Given the description of an element on the screen output the (x, y) to click on. 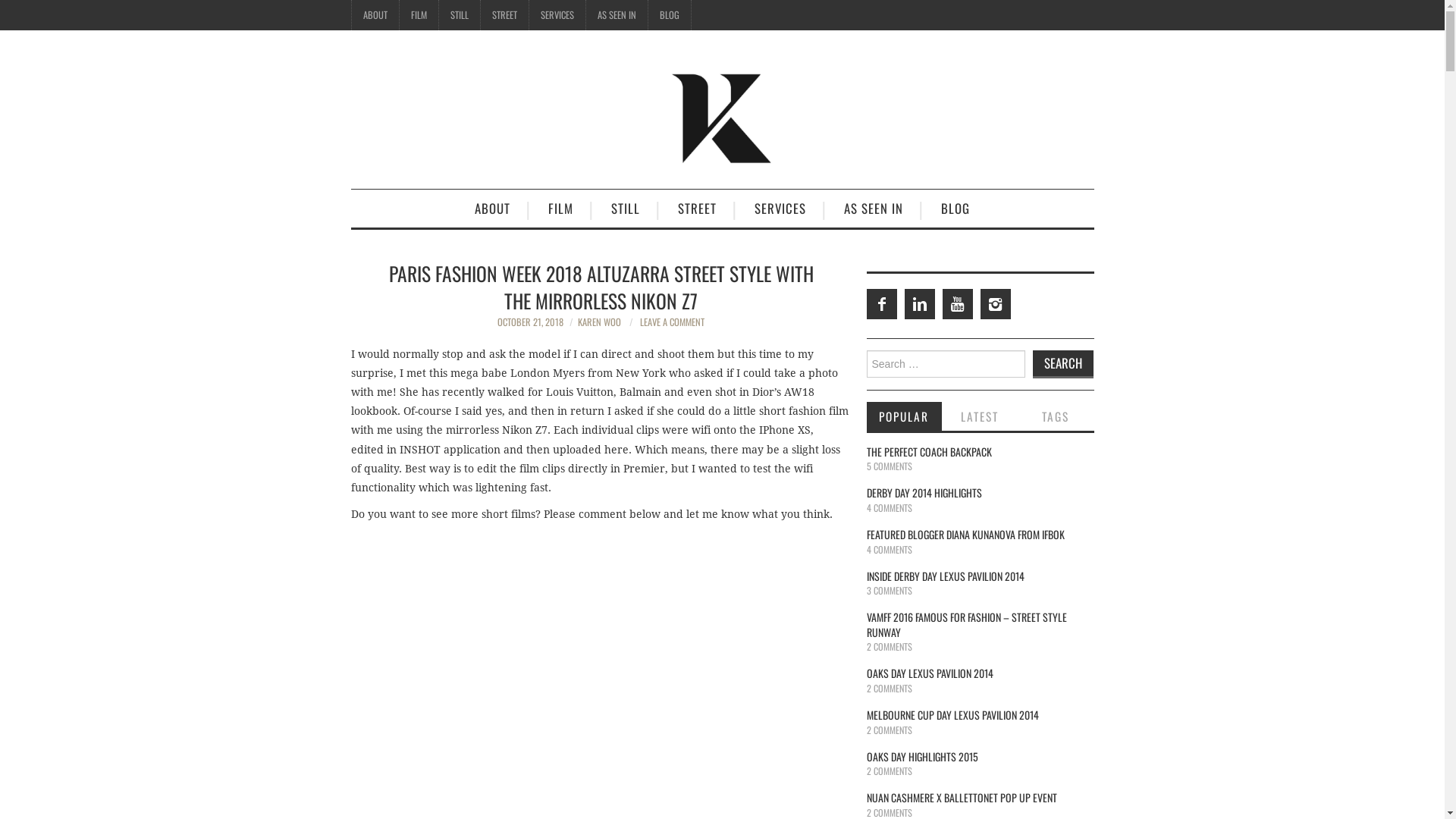
FILM Element type: text (560, 208)
OCTOBER 21, 2018 Element type: text (530, 321)
Search for: Element type: hover (945, 363)
LEAVE A COMMENT Element type: text (672, 321)
INSIDE DERBY DAY LEXUS PAVILION 2014 Element type: text (944, 575)
MELBOURNE CUP DAY LEXUS PAVILION 2014 Element type: text (952, 714)
LinkedIn Element type: hover (918, 303)
SERVICES Element type: text (557, 15)
STREET Element type: text (696, 208)
STILL Element type: text (625, 208)
OAKS DAY LEXUS PAVILION 2014 Element type: text (929, 672)
Facebook Element type: hover (881, 303)
AS SEEN IN Element type: text (615, 15)
Search Element type: text (1062, 364)
ABOUT Element type: text (374, 15)
BLOG Element type: text (955, 208)
STILL Element type: text (458, 15)
Instagram Element type: hover (994, 303)
FEATURED BLOGGER DIANA KUNANOVA FROM IFBOK Element type: text (964, 534)
AS SEEN IN Element type: text (873, 208)
THE PERFECT COACH BACKPACK Element type: text (928, 451)
TAGS Element type: text (1055, 415)
DERBY DAY 2014 HIGHLIGHTS Element type: text (923, 492)
OAKS DAY HIGHLIGHTS 2015 Element type: text (921, 756)
BLOG Element type: text (668, 15)
POPULAR Element type: text (903, 415)
LATEST Element type: text (979, 415)
Karen Woo Fashion Videographer Element type: hover (721, 115)
SERVICES Element type: text (780, 208)
STREET Element type: text (504, 15)
KAREN WOO Element type: text (599, 321)
YouTube Element type: hover (956, 303)
ABOUT Element type: text (492, 208)
NUAN CASHMERE X BALLETTONET POP UP EVENT Element type: text (961, 797)
FILM Element type: text (417, 15)
